Given the description of an element on the screen output the (x, y) to click on. 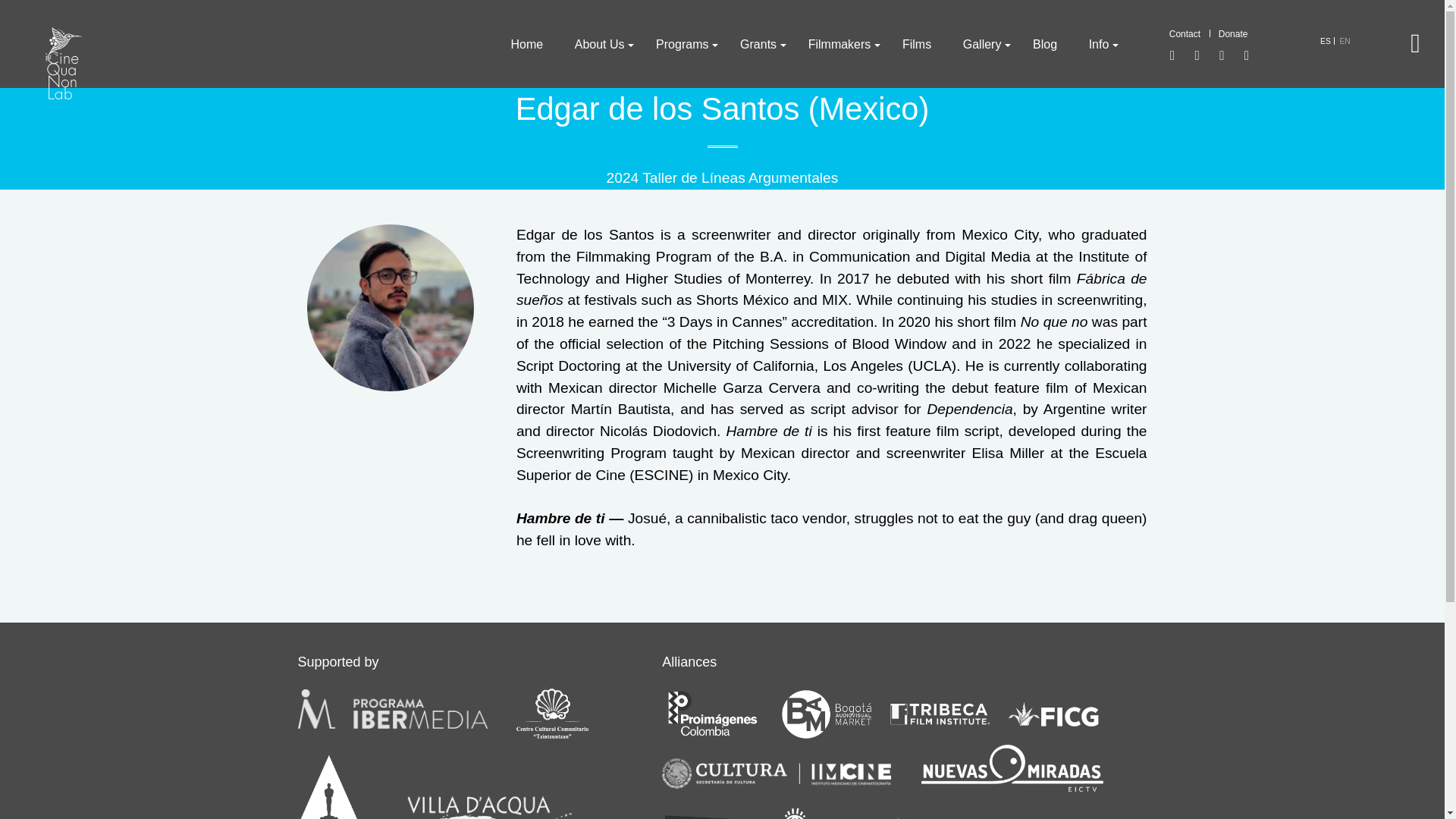
Programs (681, 43)
About Us (598, 43)
Grants (758, 43)
Home (526, 43)
Filmmakers (838, 43)
